Given the description of an element on the screen output the (x, y) to click on. 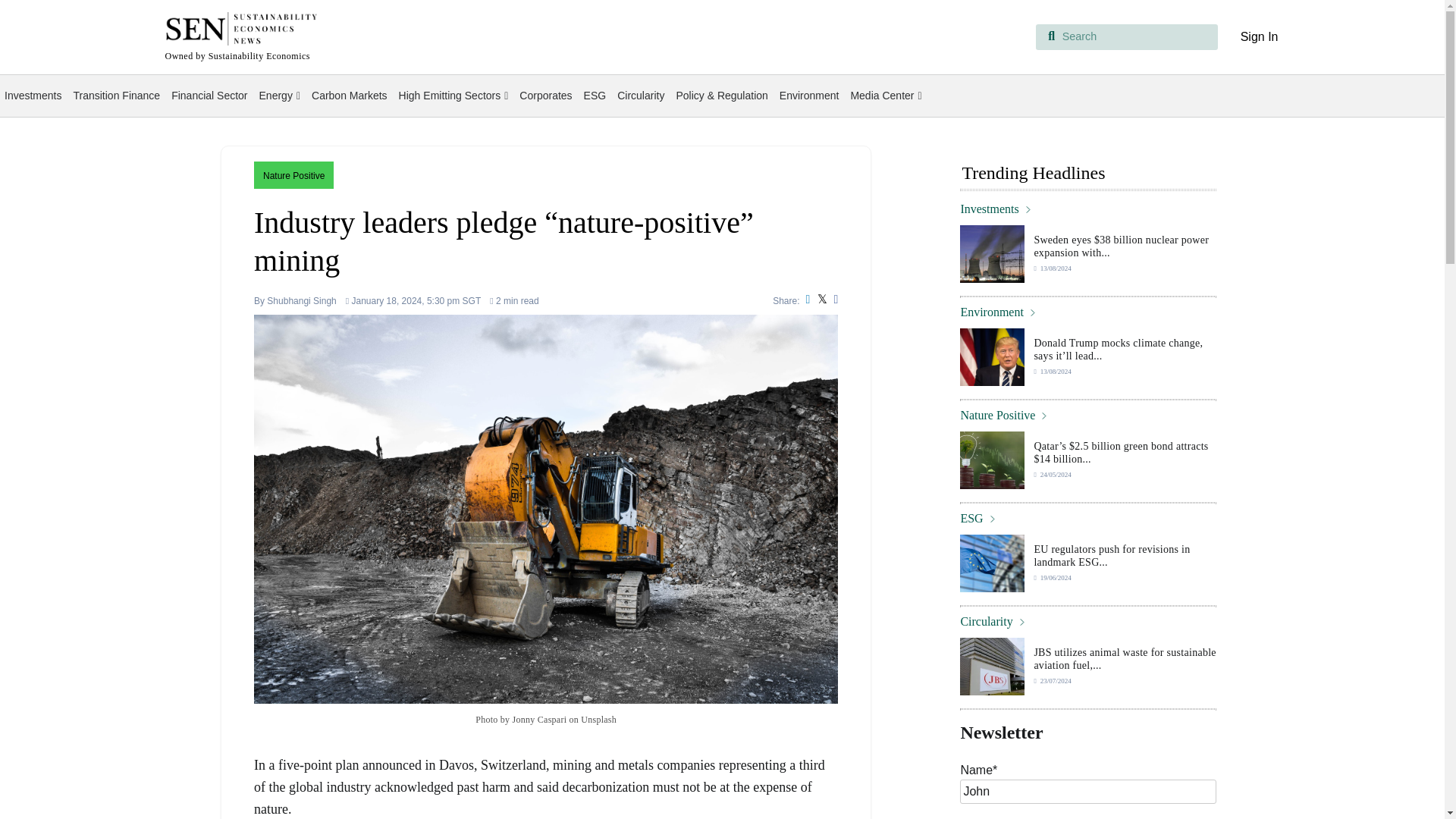
Transition Finance (116, 95)
Investments (32, 95)
Energy (279, 95)
Financial Sector (209, 95)
Sign In (1259, 36)
